Given the description of an element on the screen output the (x, y) to click on. 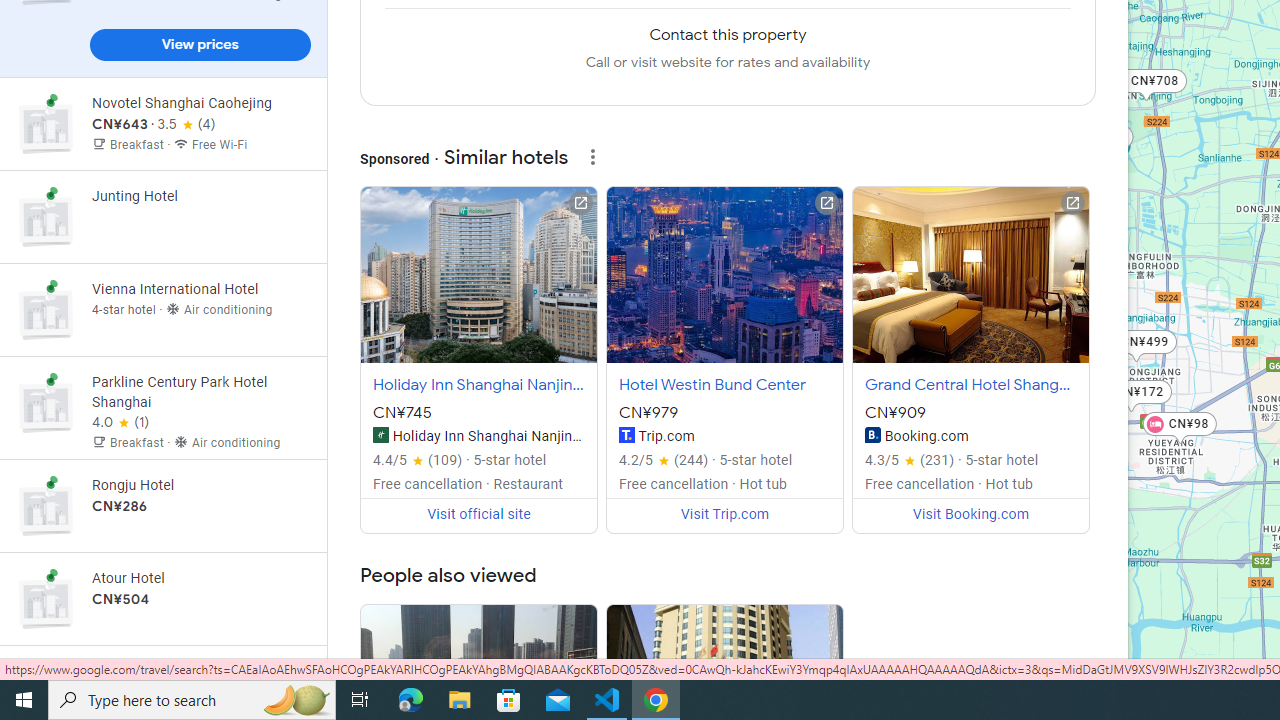
4.2 out of 5 stars from 244 reviews (664, 460)
View prices for Atour Hotel (200, 668)
View prices for Parkline Century Park Hotel Shanghai (200, 482)
4.4 out of 5 stars from 109 reviews (417, 460)
3.5 out of 5 stars from 4 reviews (186, 125)
Booking.com (872, 434)
Junting Hotel (163, 216)
4.3 out of 5 stars from 231 reviews (909, 460)
